Given the description of an element on the screen output the (x, y) to click on. 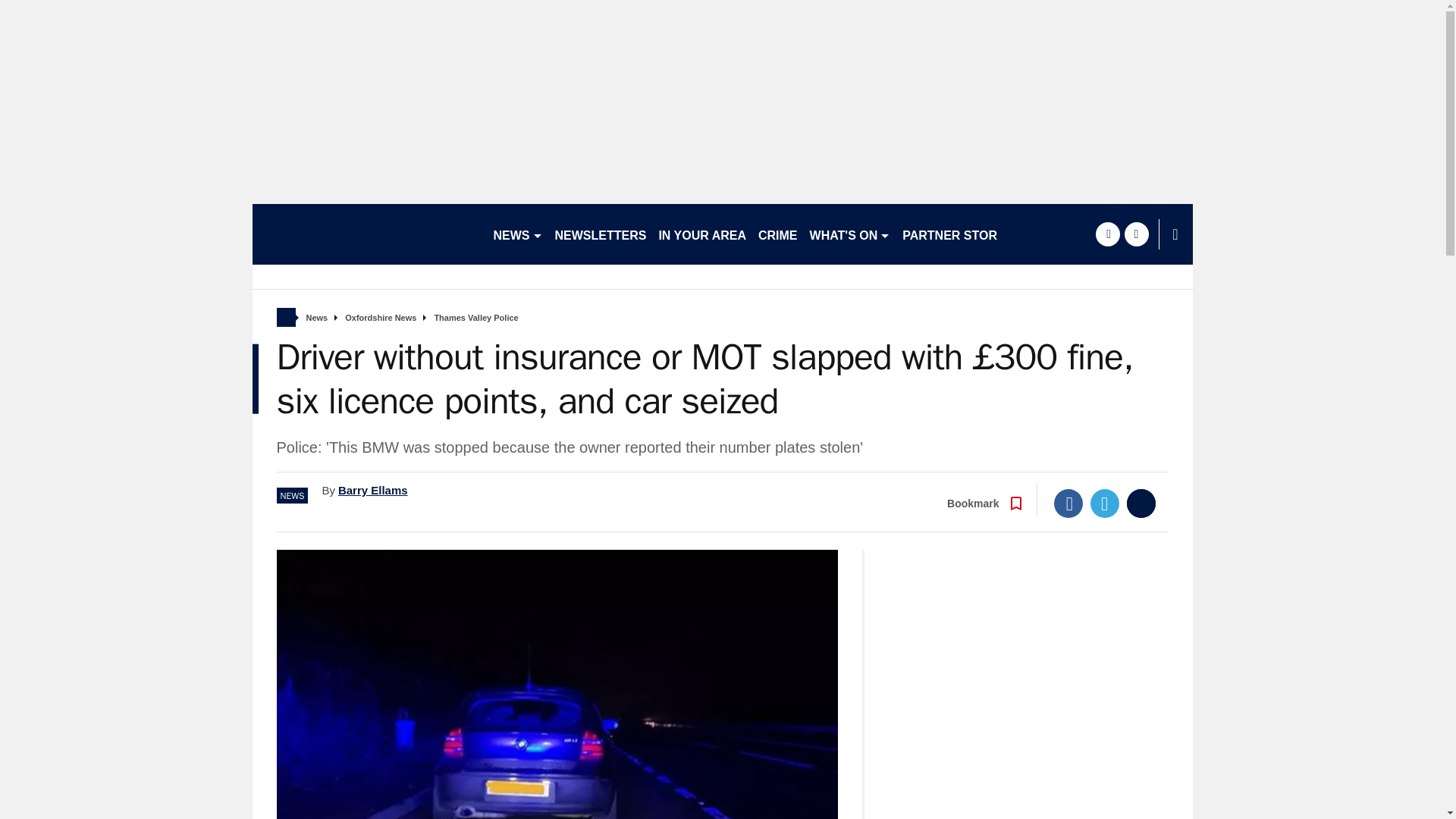
twitter (1136, 233)
IN YOUR AREA (702, 233)
oxfordshirelive (365, 233)
facebook (1106, 233)
Twitter (1104, 502)
PARTNER STORIES (959, 233)
NEWSLETTERS (600, 233)
WHAT'S ON (849, 233)
NEWS (517, 233)
Facebook (1068, 502)
